Given the description of an element on the screen output the (x, y) to click on. 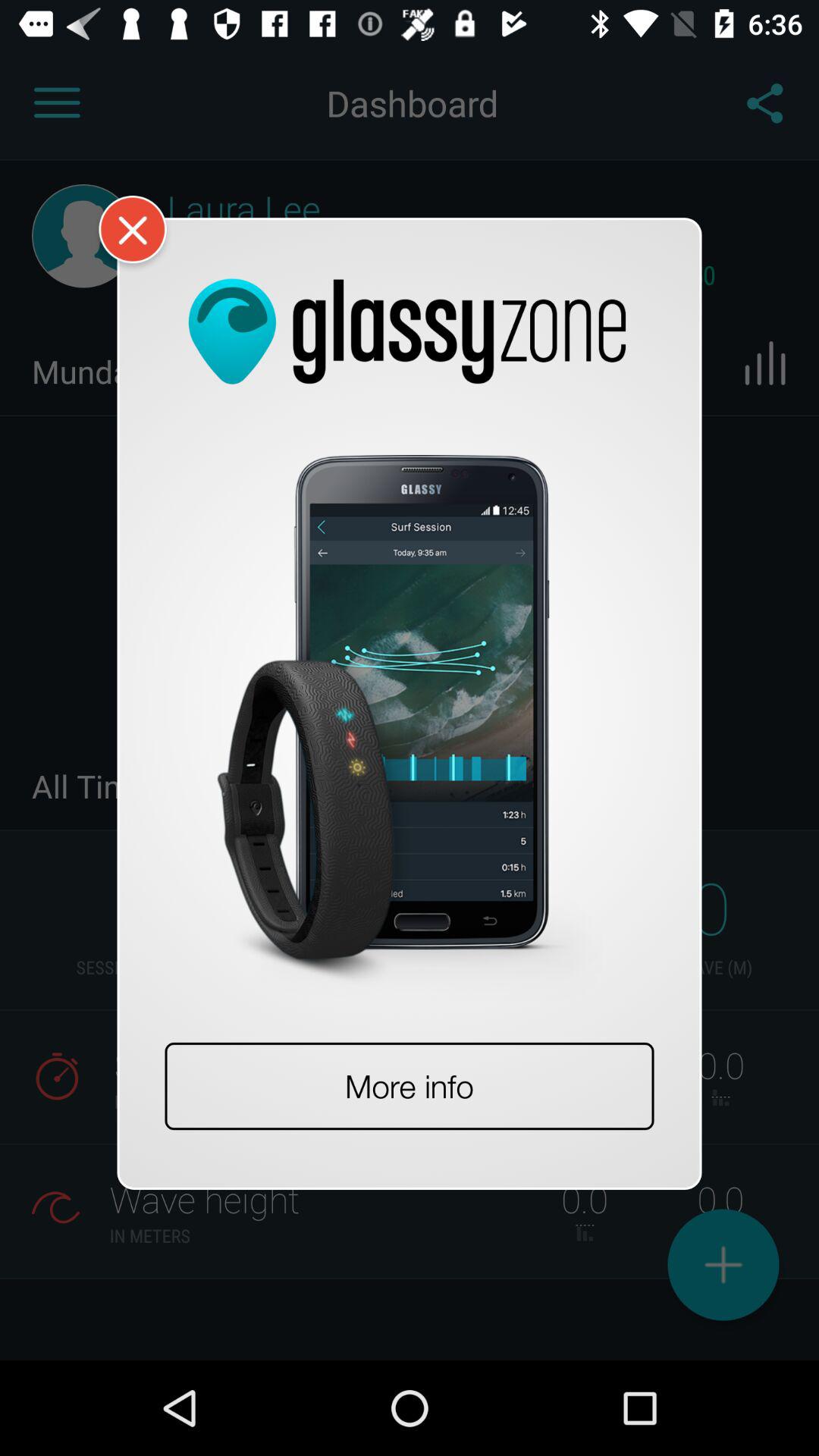
turn on the item at the top left corner (142, 243)
